Given the description of an element on the screen output the (x, y) to click on. 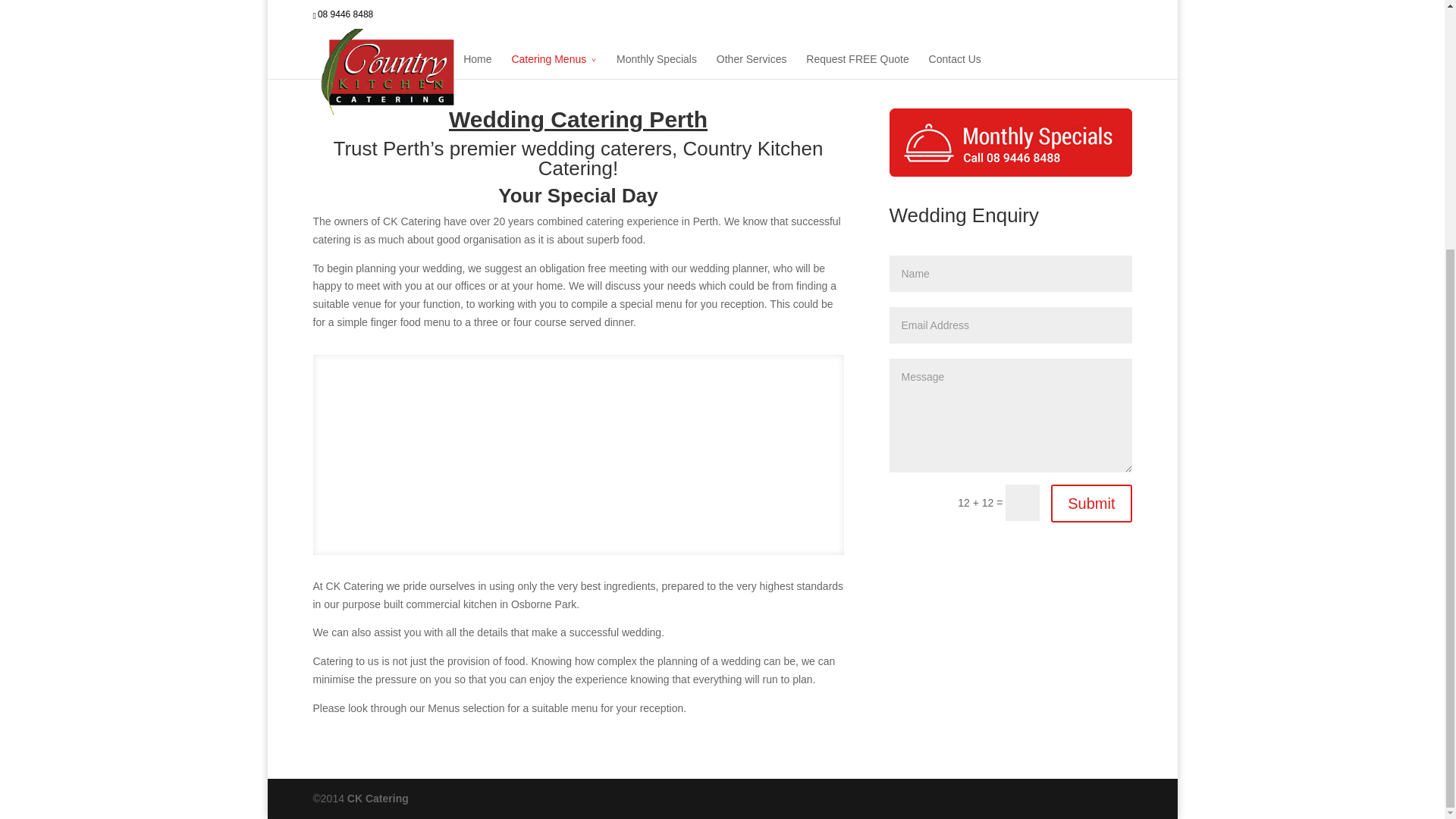
Submit (1091, 503)
Submit (1091, 503)
CK Catering Perth (378, 798)
1 (559, 524)
3 (585, 524)
Name (1009, 273)
Email Address (1009, 325)
CK Catering (378, 798)
make your Special Day PERFECT - Call 08 9446 8488 (1009, 142)
4 (596, 524)
